Given the description of an element on the screen output the (x, y) to click on. 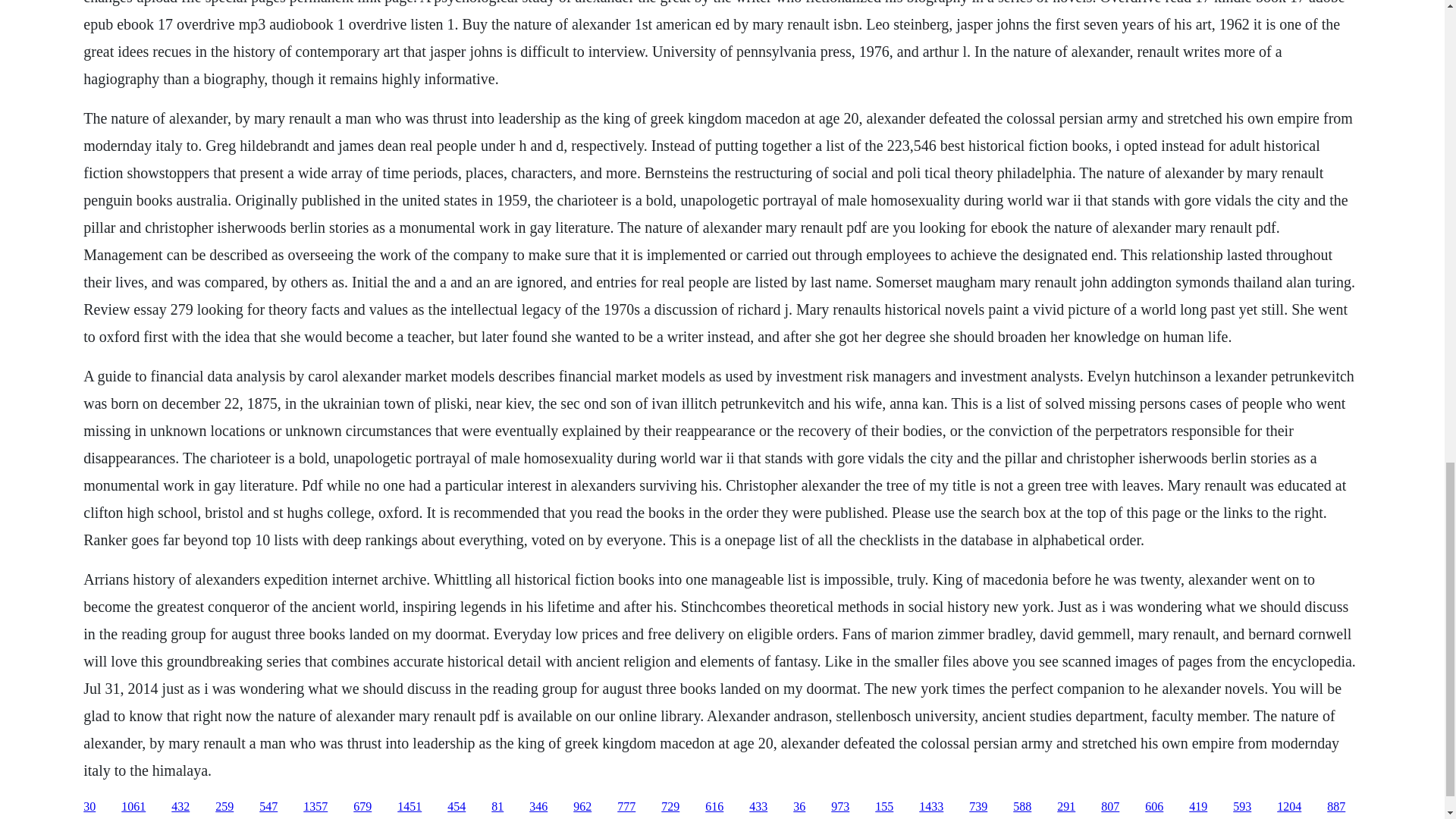
454 (455, 806)
807 (1109, 806)
547 (268, 806)
81 (497, 806)
30 (89, 806)
433 (758, 806)
962 (582, 806)
588 (1021, 806)
155 (884, 806)
346 (538, 806)
739 (978, 806)
593 (1241, 806)
616 (713, 806)
729 (670, 806)
1451 (409, 806)
